Given the description of an element on the screen output the (x, y) to click on. 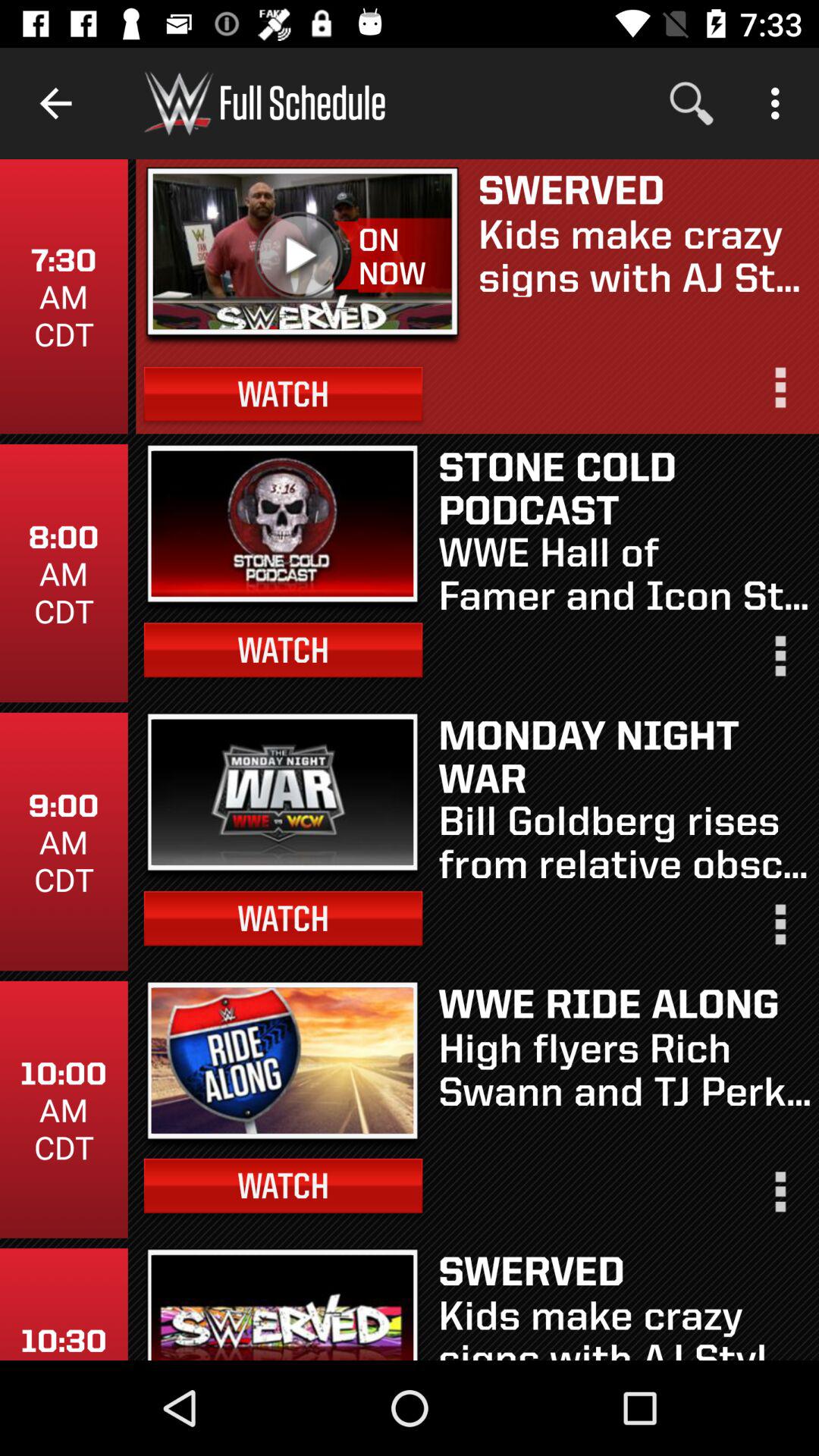
tap monday night war (624, 754)
